Given the description of an element on the screen output the (x, y) to click on. 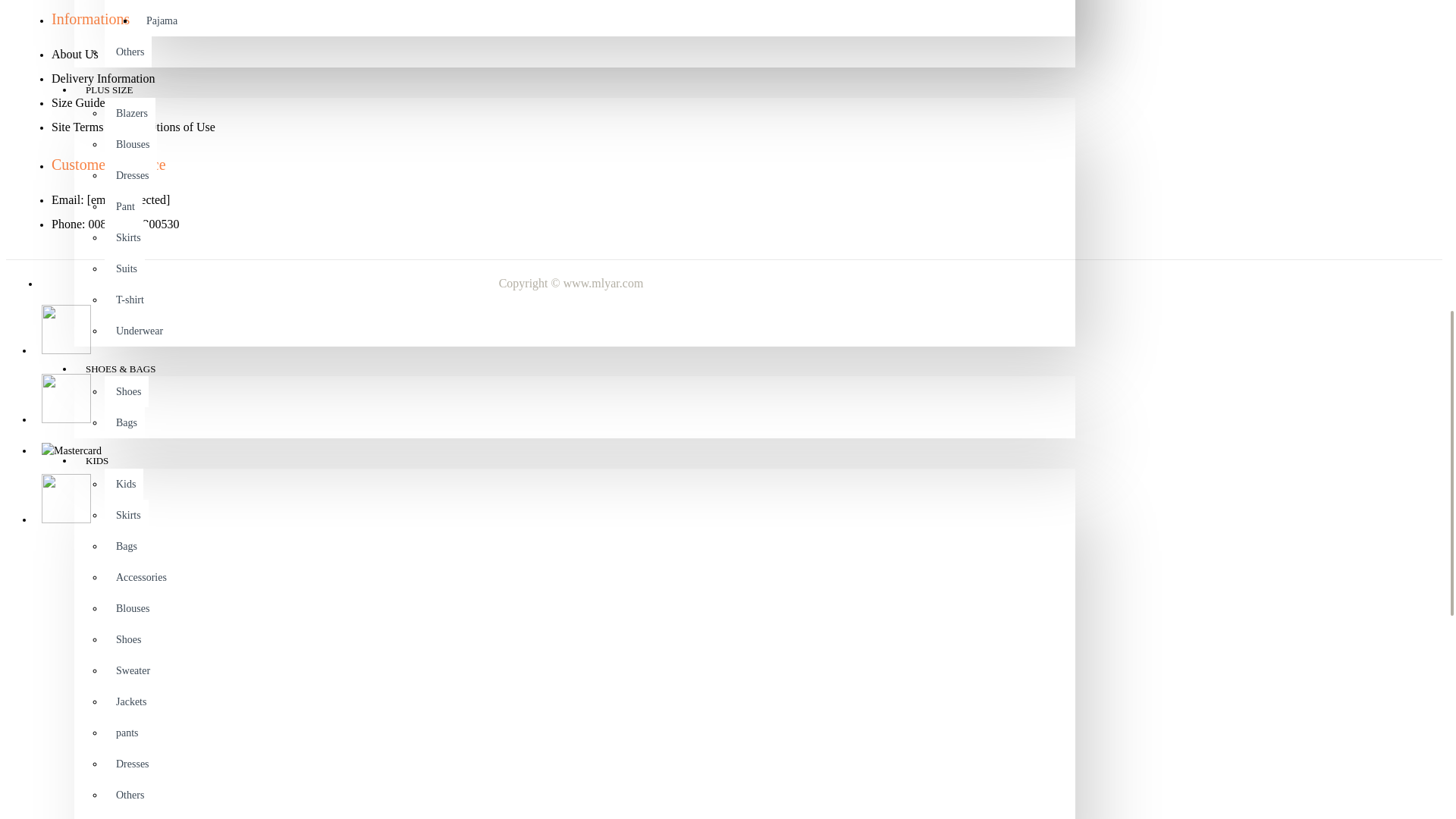
Others (127, 51)
lingery (159, 2)
Pajama (159, 20)
PLUS SIZE (109, 90)
